Given the description of an element on the screen output the (x, y) to click on. 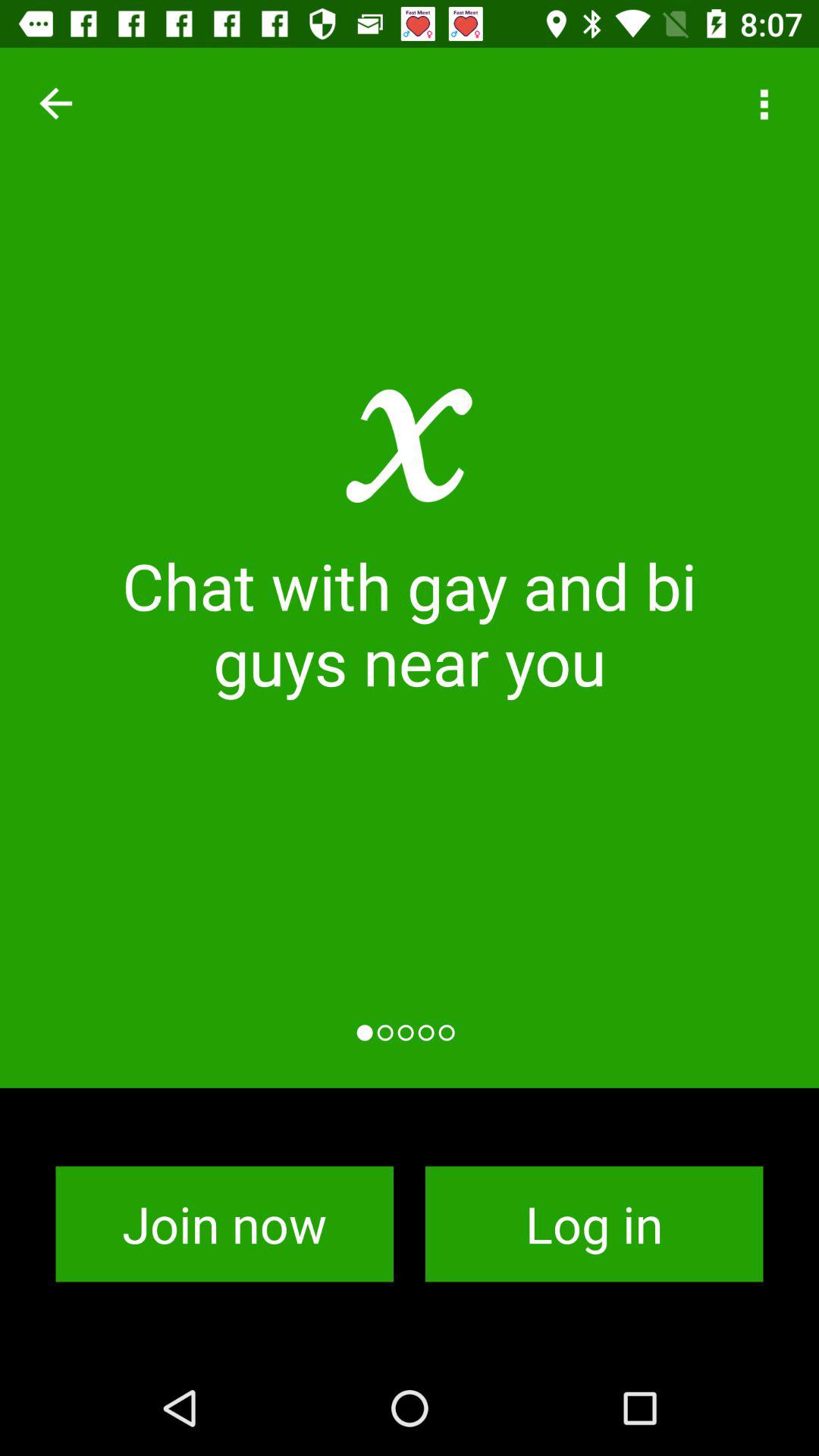
press the item above chat with gay icon (763, 103)
